Given the description of an element on the screen output the (x, y) to click on. 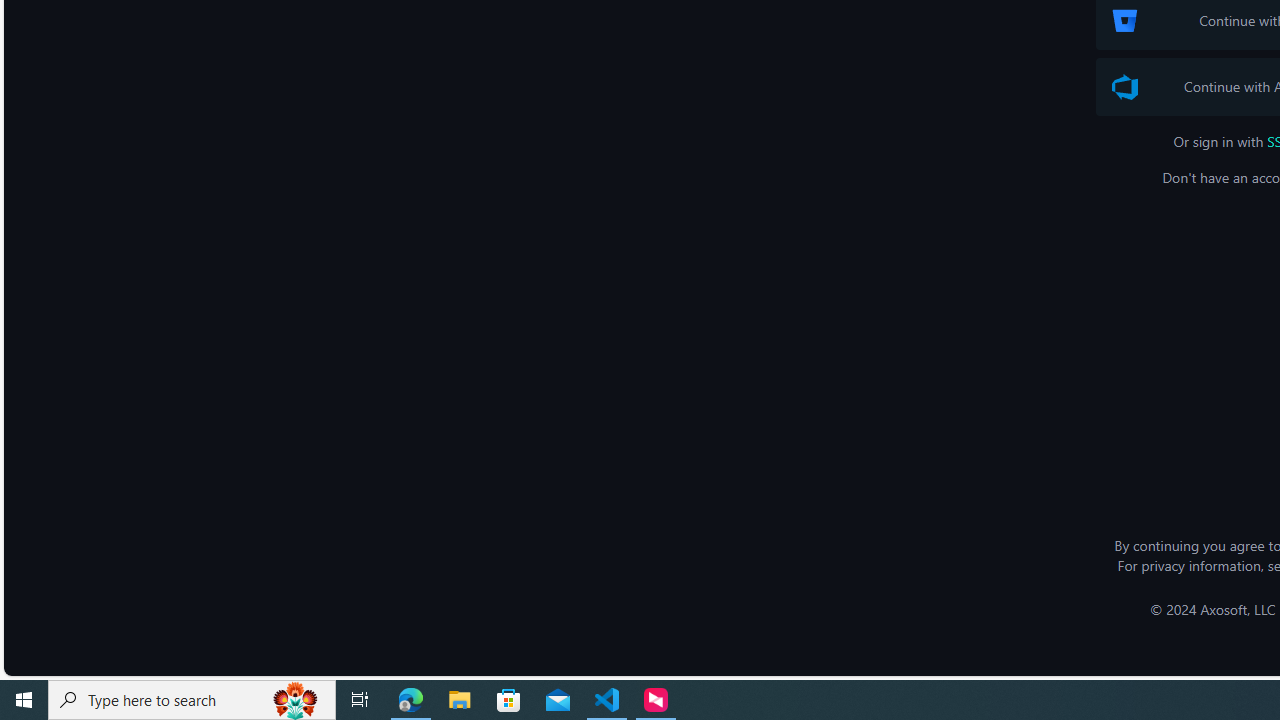
Bitbucket Logo (1124, 20)
Azure DevOps Logo (1124, 87)
